Given the description of an element on the screen output the (x, y) to click on. 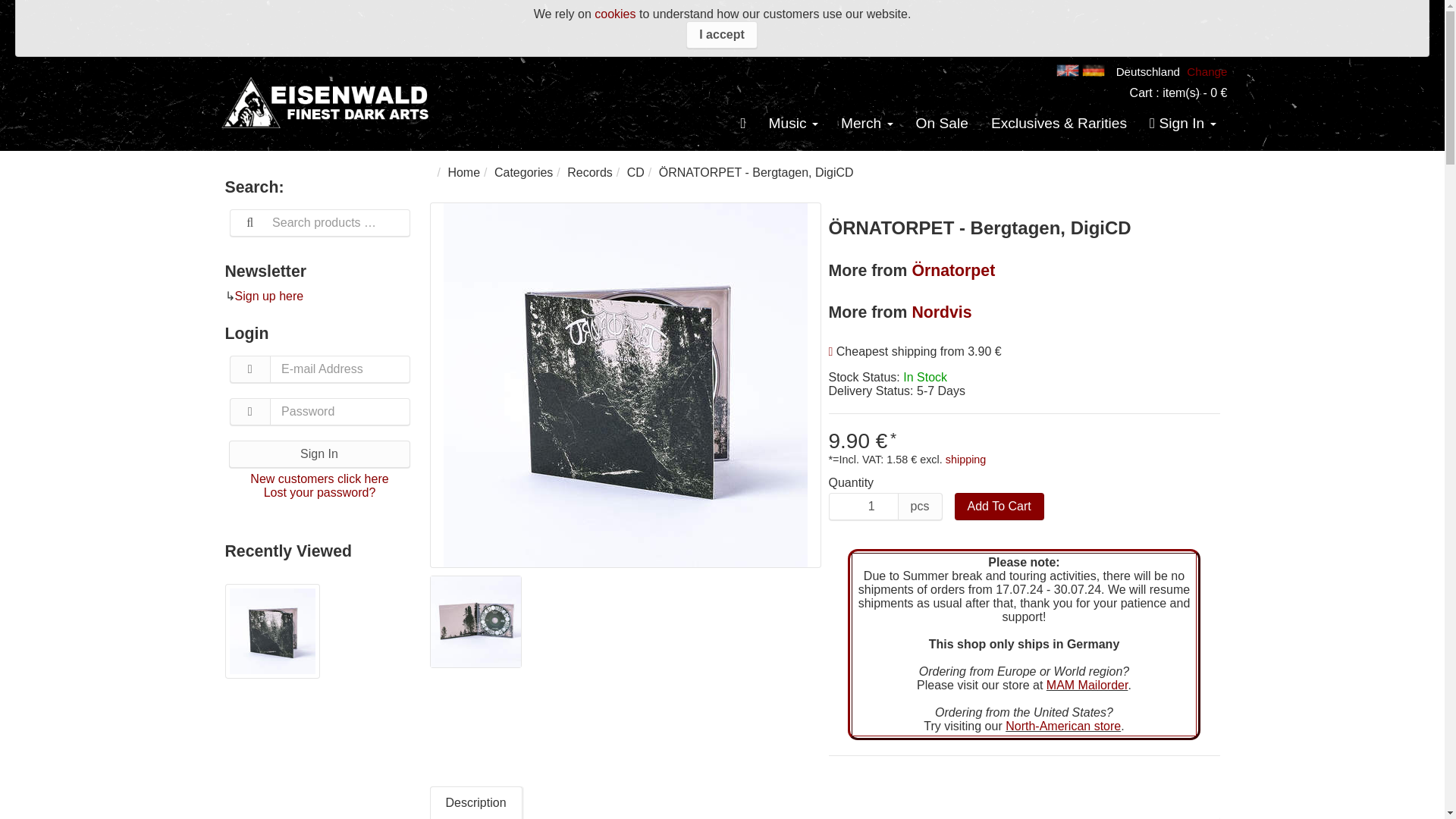
Nordvis (941, 312)
Sign In (1182, 123)
New customers click here (319, 478)
Change (1206, 71)
Records (589, 172)
1 (863, 506)
Home (463, 172)
shipping (965, 459)
I accept (721, 34)
Merch (866, 123)
On Sale (941, 123)
cookies (614, 13)
Lost your password? (319, 492)
Sign In (319, 453)
Official Eisenwald Webstore (327, 102)
